Given the description of an element on the screen output the (x, y) to click on. 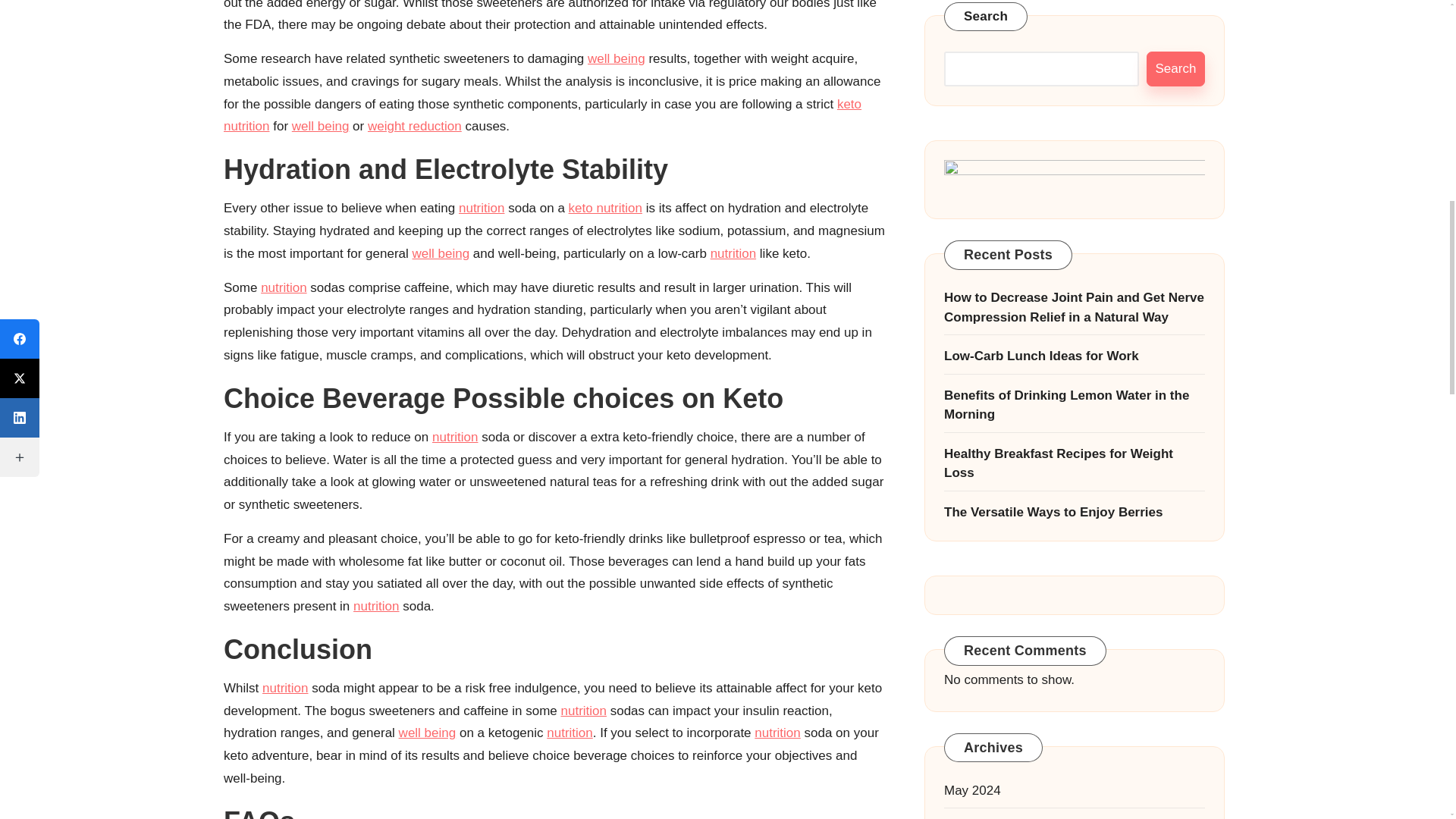
nutrition (732, 253)
well being (441, 253)
keto nutrition (605, 207)
keto nutrition (542, 115)
weight reduction (414, 125)
nutrition (480, 207)
well being (320, 125)
nutrition (282, 287)
well being (616, 58)
